Given the description of an element on the screen output the (x, y) to click on. 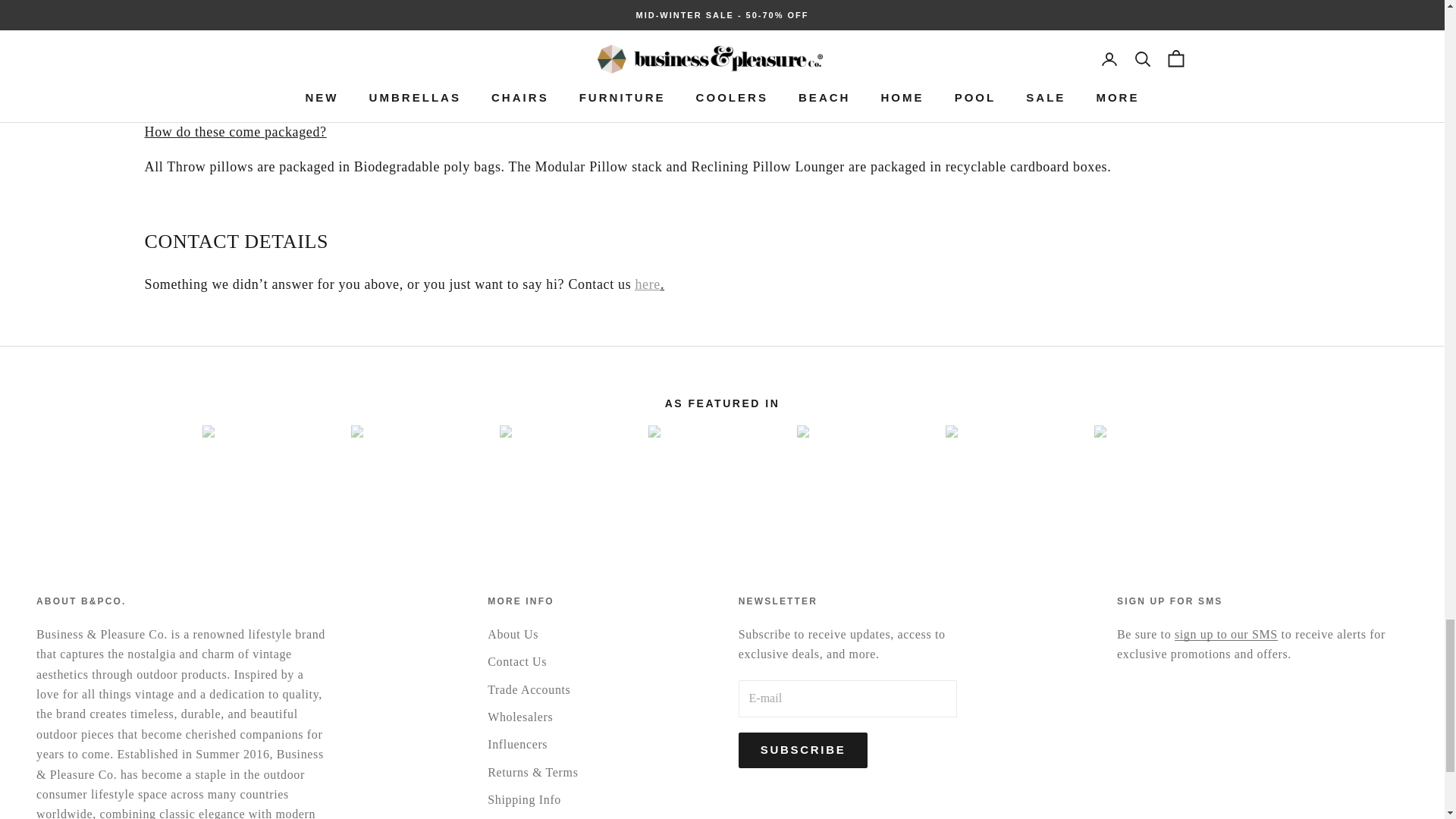
SMS Sign Up (1226, 634)
